Given the description of an element on the screen output the (x, y) to click on. 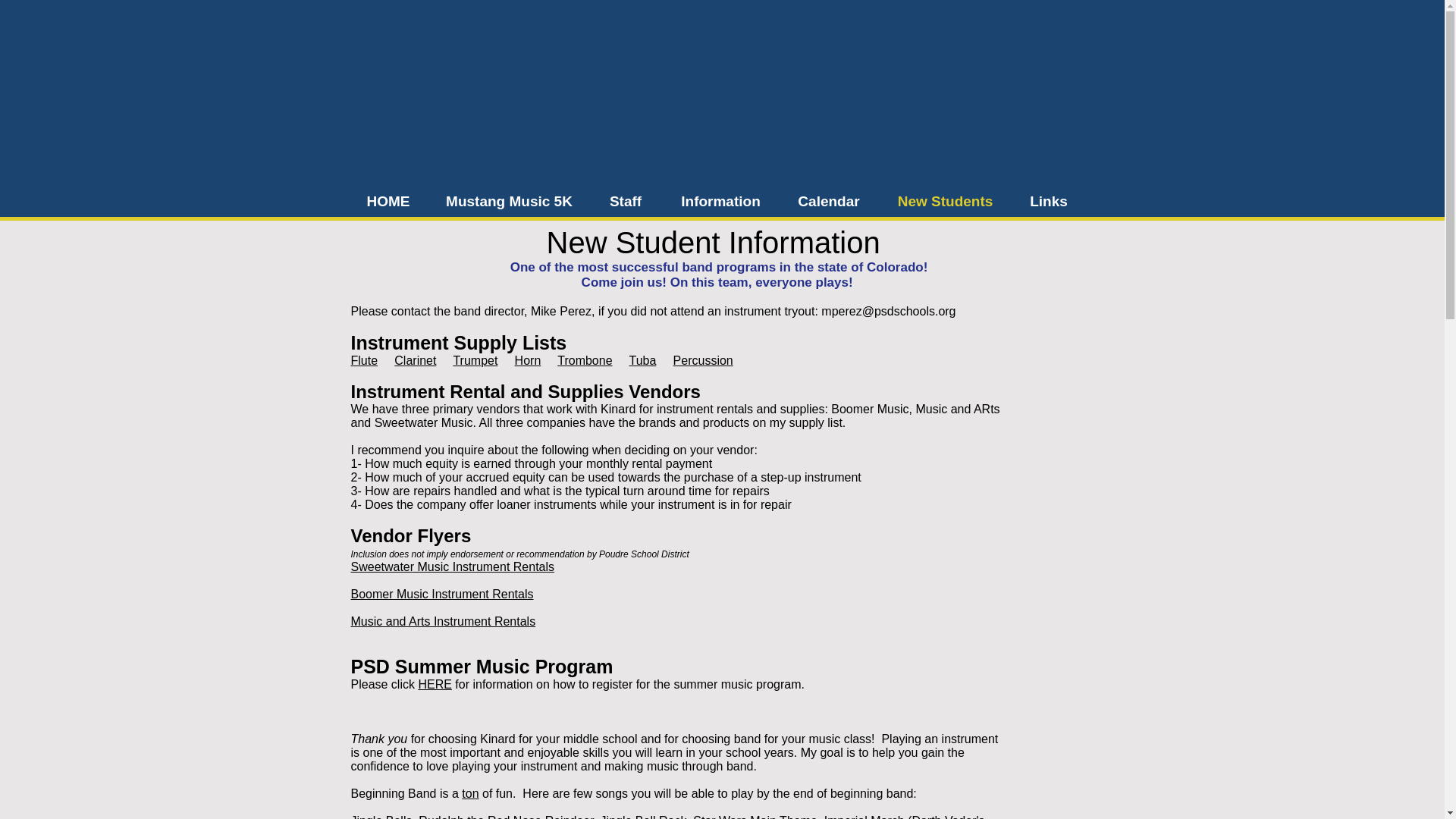
Music and Arts Instrument Rentals (442, 621)
Mustang Music 5K (508, 201)
Trumpet (474, 359)
Sweetwater Music Instrument Rentals (452, 566)
Trombone (584, 359)
HOME (388, 201)
Tuba (642, 359)
Information (720, 201)
Horn (528, 359)
HERE (434, 684)
